Given the description of an element on the screen output the (x, y) to click on. 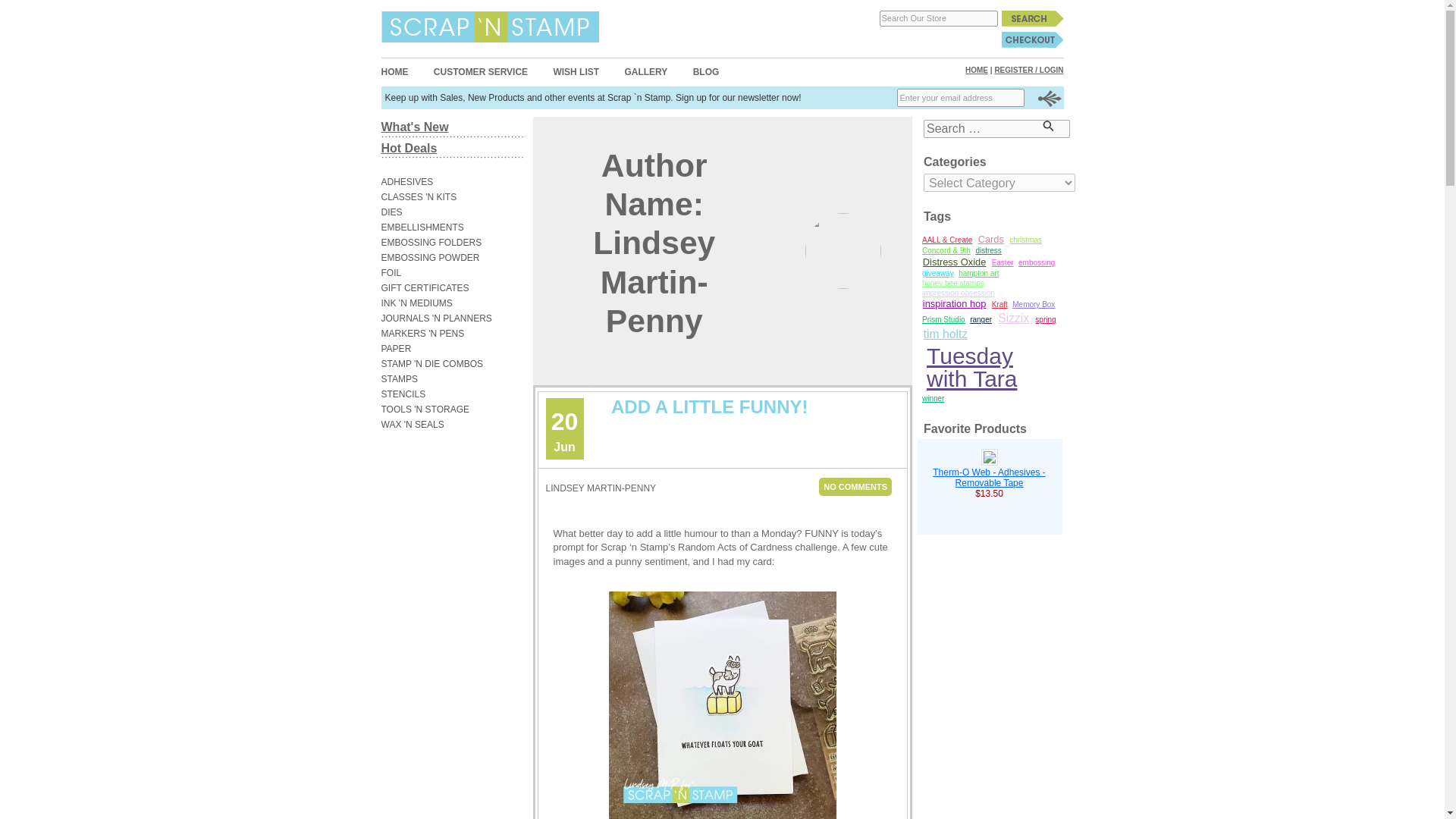
1 topic (958, 293)
1 topic (987, 251)
Search (1031, 18)
CLASSES 'N KITS (444, 196)
1 topic (1003, 262)
HOME (976, 70)
1 topic (946, 251)
BLOG (706, 71)
2 topics (954, 262)
1 topic (938, 273)
1 topic (1025, 239)
DIES (444, 212)
WISH LIST (575, 71)
View all posts by Lindsey Martin-Penny (601, 488)
Enter your email address (959, 97)
